Given the description of an element on the screen output the (x, y) to click on. 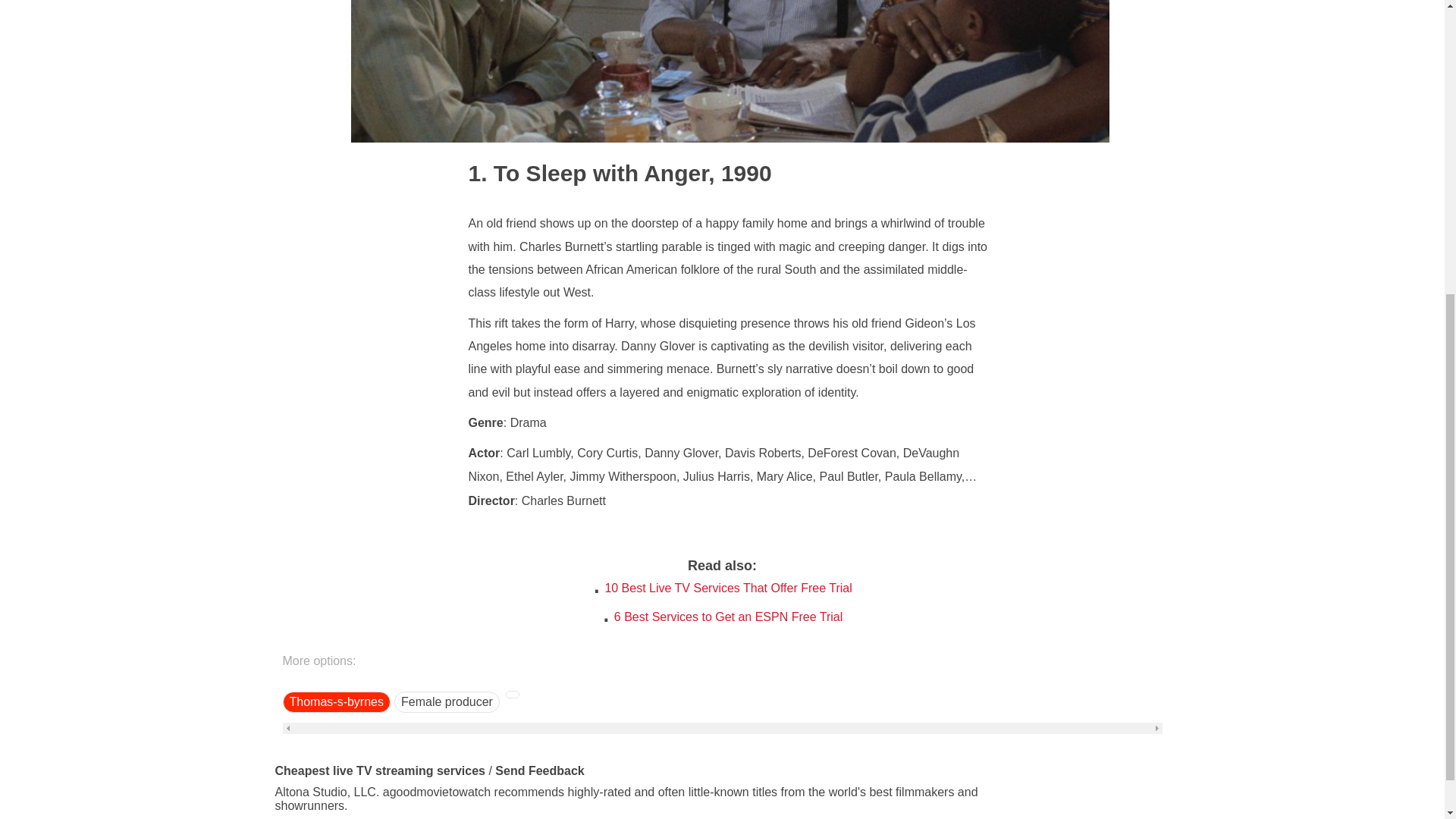
To Sleep with Anger (588, 172)
